Given the description of an element on the screen output the (x, y) to click on. 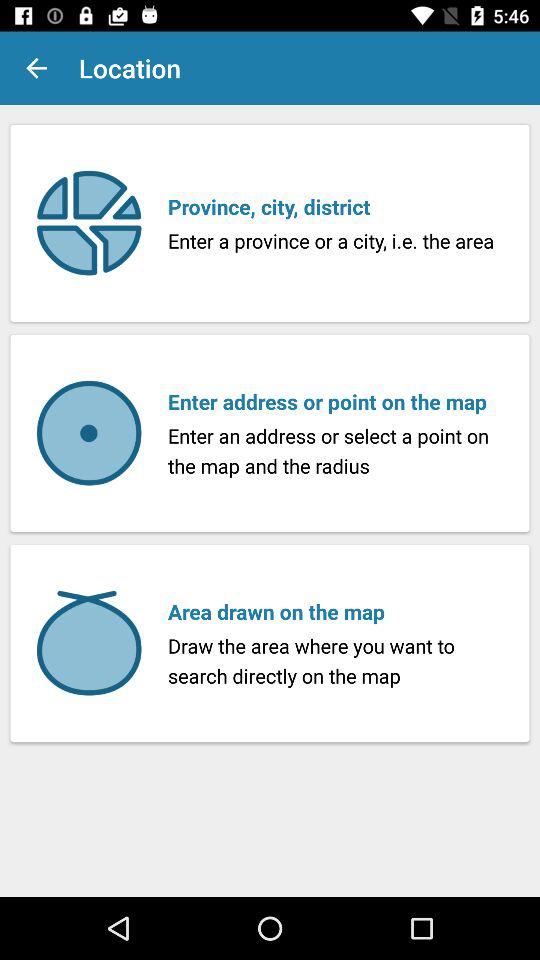
choose the item to the left of location icon (36, 68)
